Given the description of an element on the screen output the (x, y) to click on. 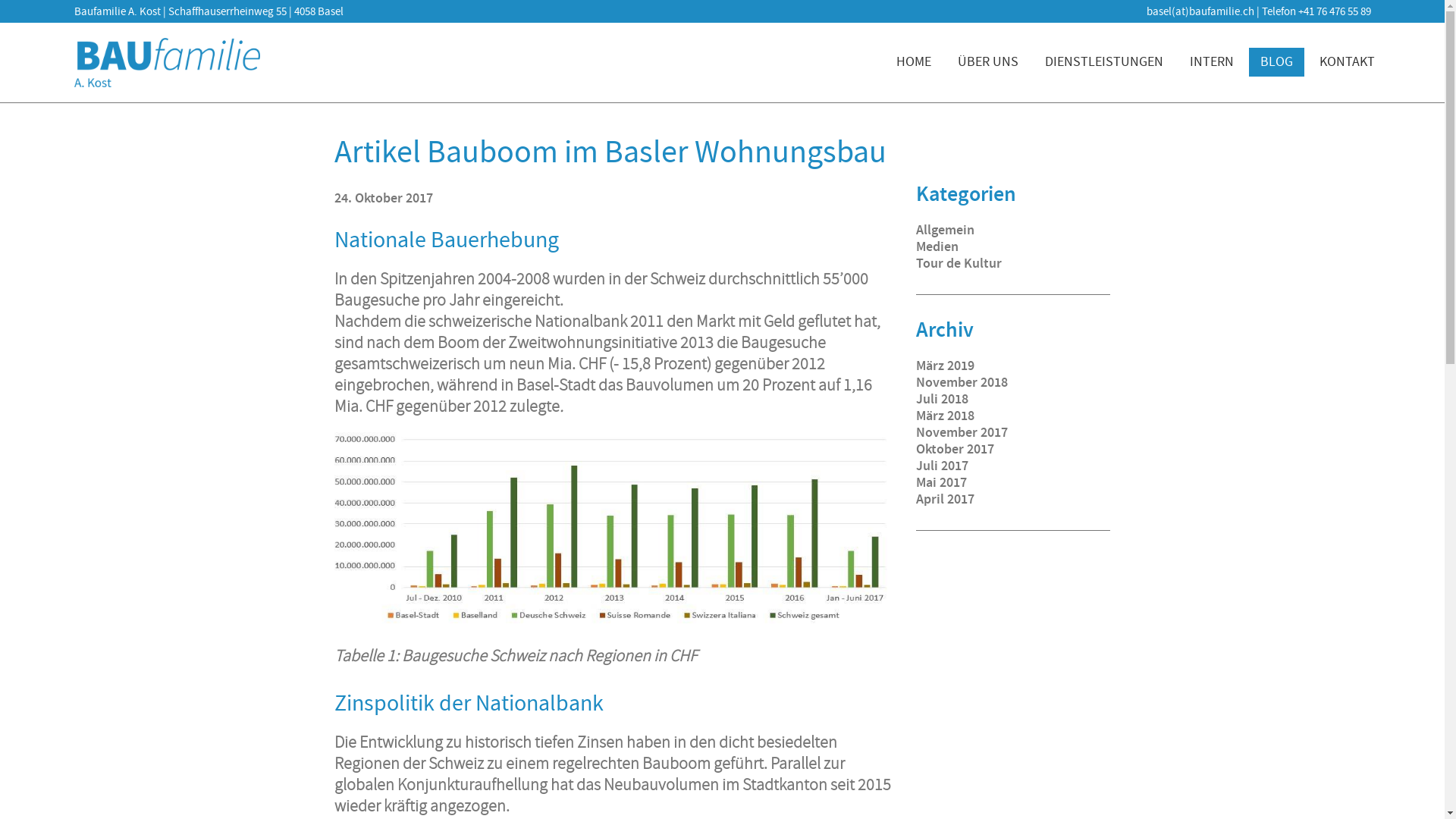
April 2017 Element type: text (945, 498)
Oktober 2017 Element type: text (955, 448)
KONTAKT Element type: text (1346, 61)
INTERN Element type: text (1211, 61)
November 2017 Element type: text (961, 432)
Medien Element type: text (937, 246)
Baufamilie Element type: hover (167, 62)
DIENSTLEISTUNGEN Element type: text (1102, 61)
Juli 2018 Element type: text (942, 398)
Mai 2017 Element type: text (941, 482)
basel(at)baufamilie.ch Element type: text (1200, 10)
Juli 2017 Element type: text (942, 465)
Allgemein Element type: text (945, 229)
November 2018 Element type: text (961, 382)
Tour de Kultur Element type: text (958, 263)
HOME Element type: text (912, 61)
BLOG Element type: text (1275, 61)
